Given the description of an element on the screen output the (x, y) to click on. 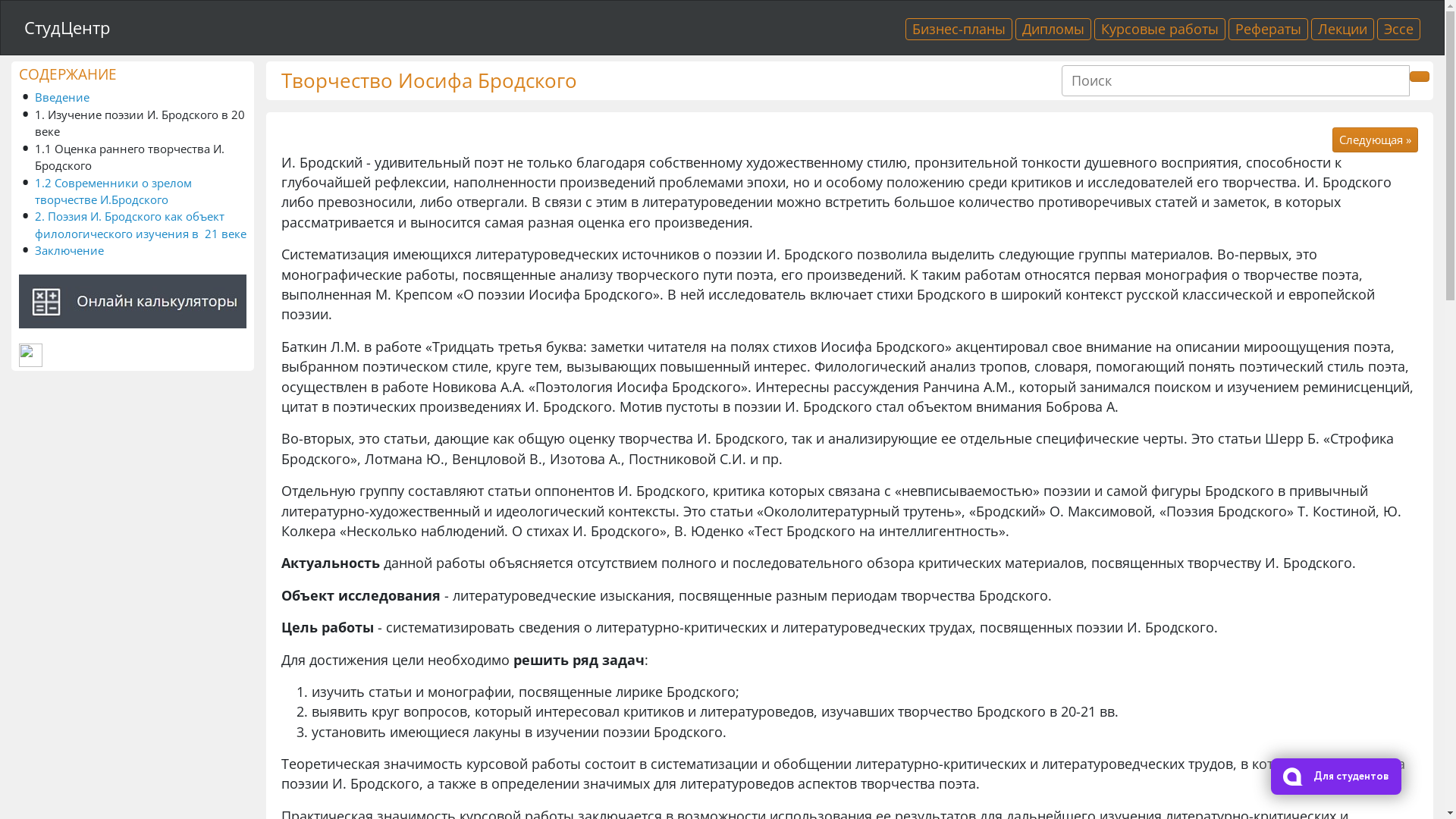
LiveInternet Element type: hover (30, 355)
